Given the description of an element on the screen output the (x, y) to click on. 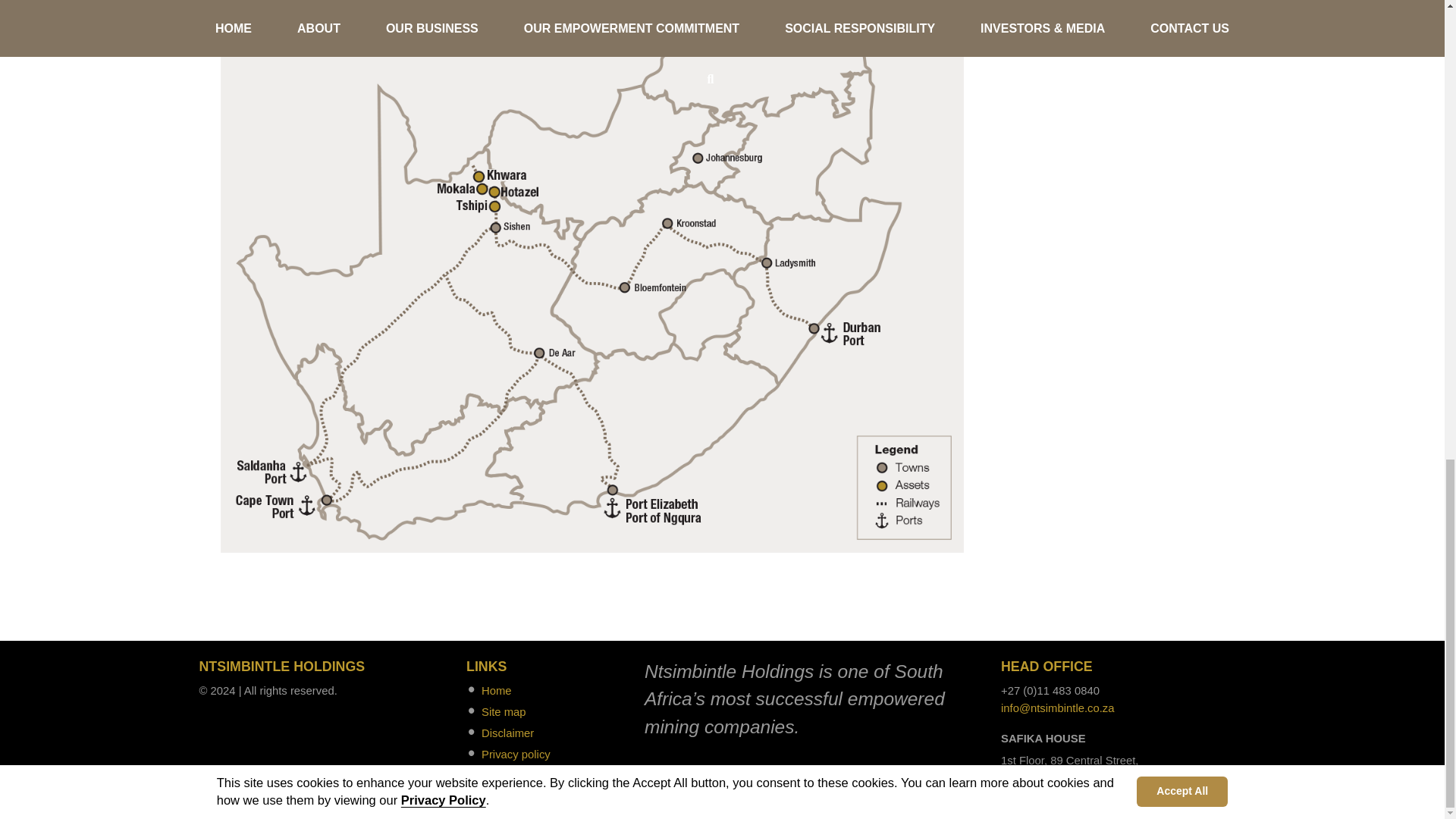
Home (496, 690)
Search (498, 775)
Privacy policy (515, 754)
Disclaimer (507, 733)
Site map (503, 711)
